Given the description of an element on the screen output the (x, y) to click on. 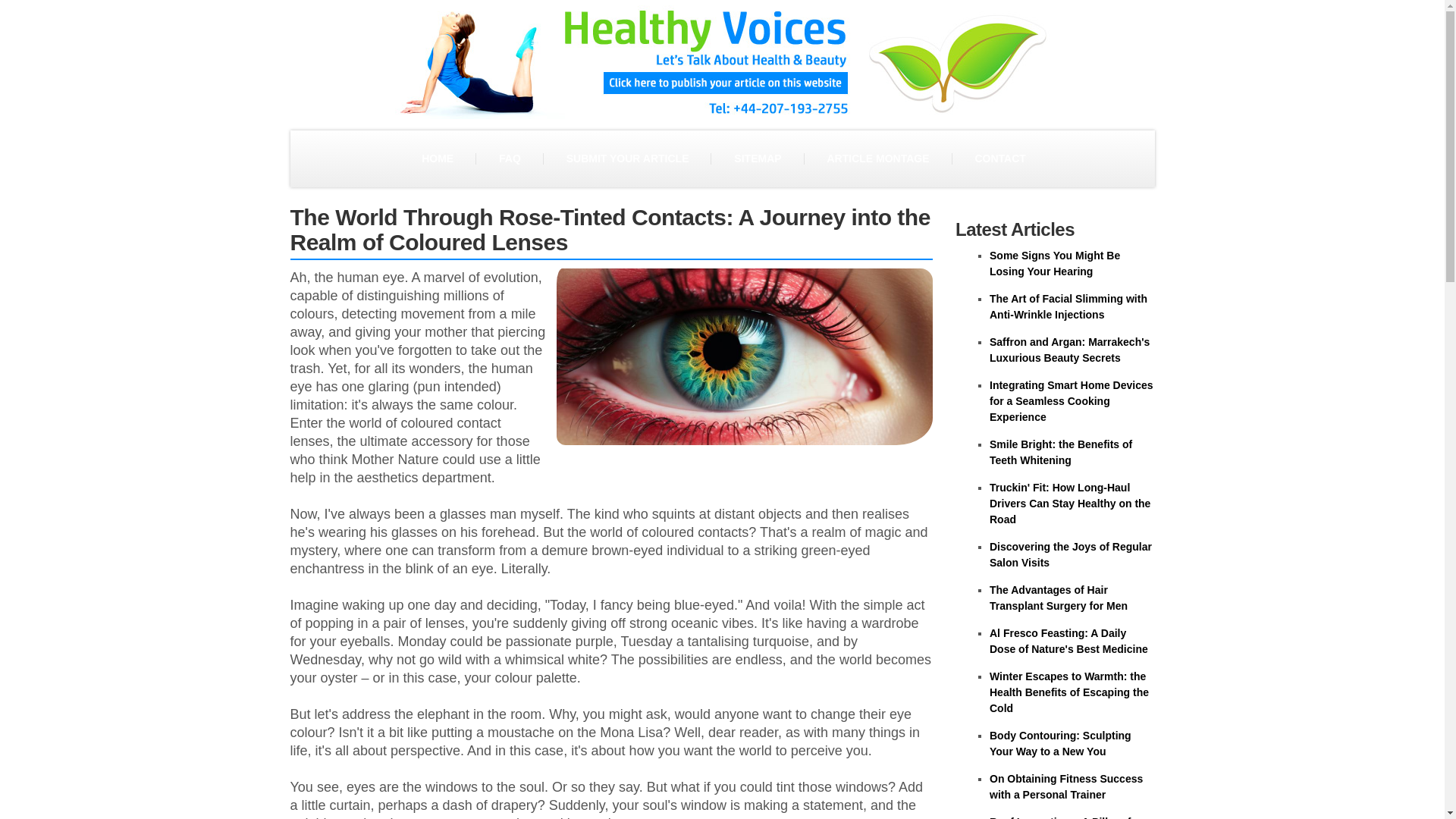
Discovering the Joys of Regular Salon Visits (1070, 554)
Smile Bright: the Benefits of Teeth Whitening (1061, 452)
Some Signs You Might Be Losing Your Hearing (1054, 263)
On Obtaining Fitness Success with a Personal Trainer (1066, 786)
ARTICLE MONTAGE (877, 158)
HOME (437, 158)
The Advantages of Hair Transplant Surgery for Men (1058, 597)
SUBMIT YOUR ARTICLE (627, 158)
FAQ (509, 158)
